Given the description of an element on the screen output the (x, y) to click on. 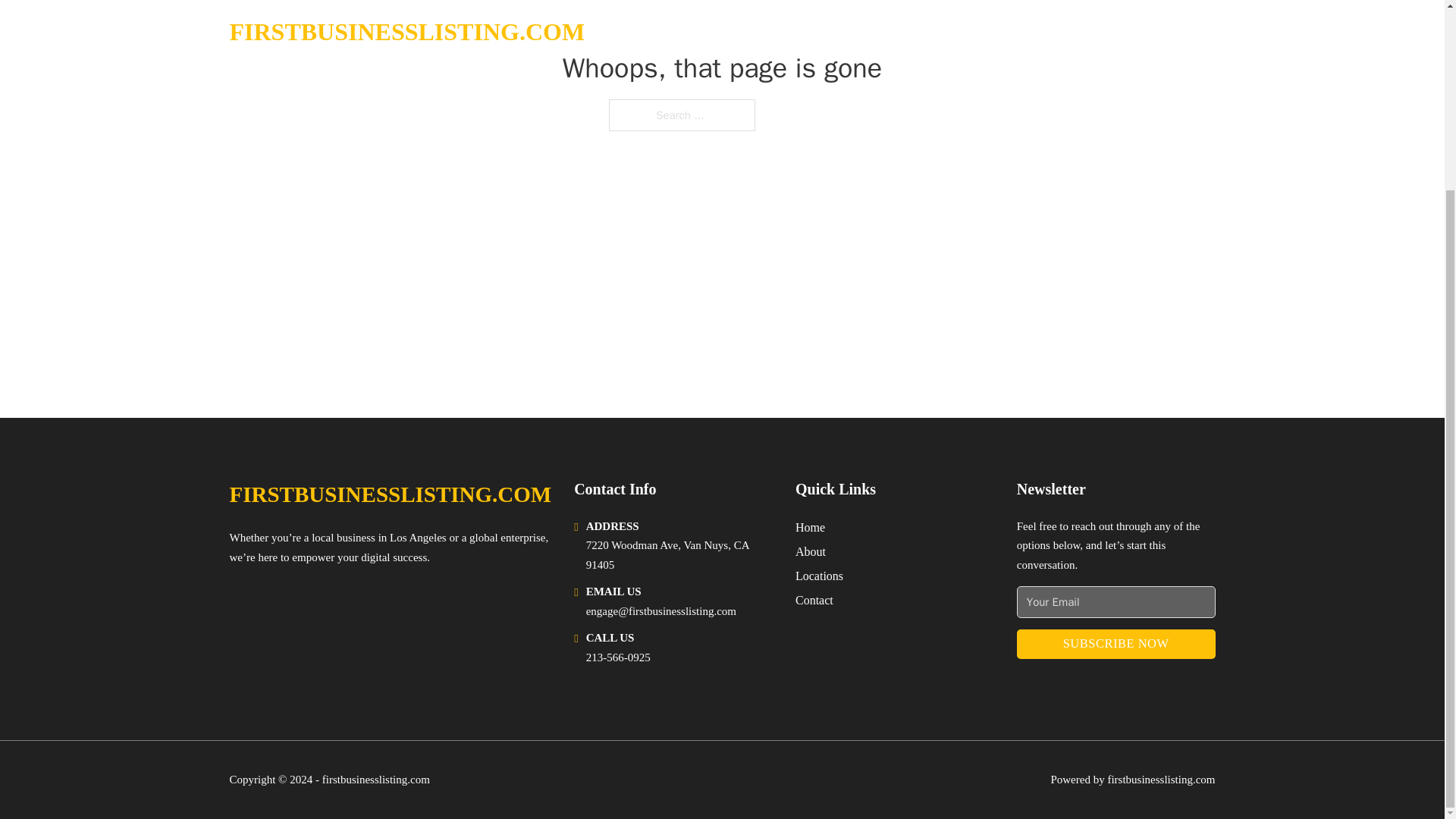
FIRSTBUSINESSLISTING.COM (389, 494)
Locations (818, 575)
213-566-0925 (618, 657)
SUBSCRIBE NOW (1115, 644)
Contact (813, 599)
About (809, 551)
Home (809, 526)
